Given the description of an element on the screen output the (x, y) to click on. 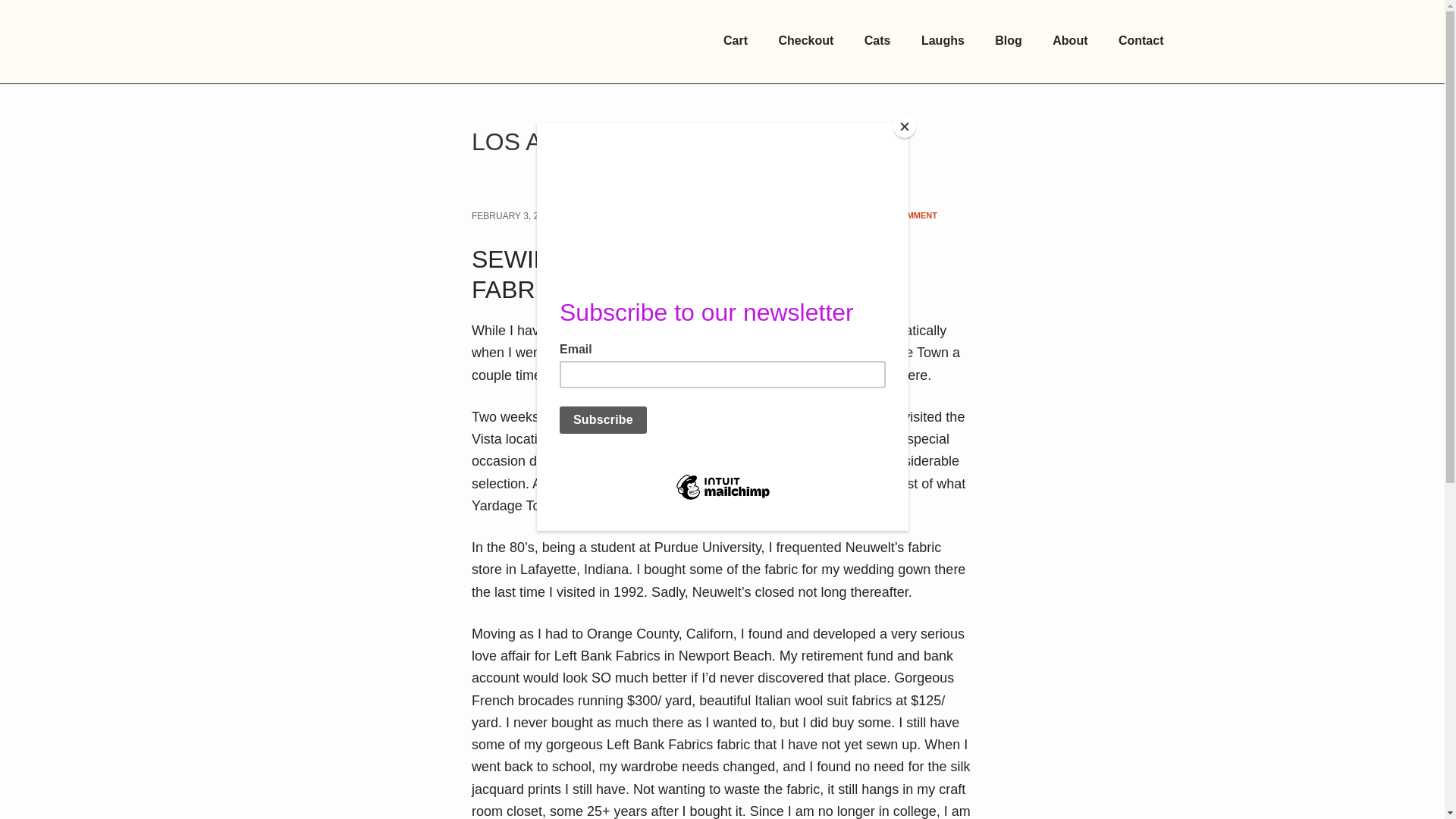
Checkout (805, 41)
Cats, Crafts, and Laughs (387, 41)
Cats (877, 41)
Blog (1008, 41)
Laughs (942, 41)
Cart (735, 41)
